Given the description of an element on the screen output the (x, y) to click on. 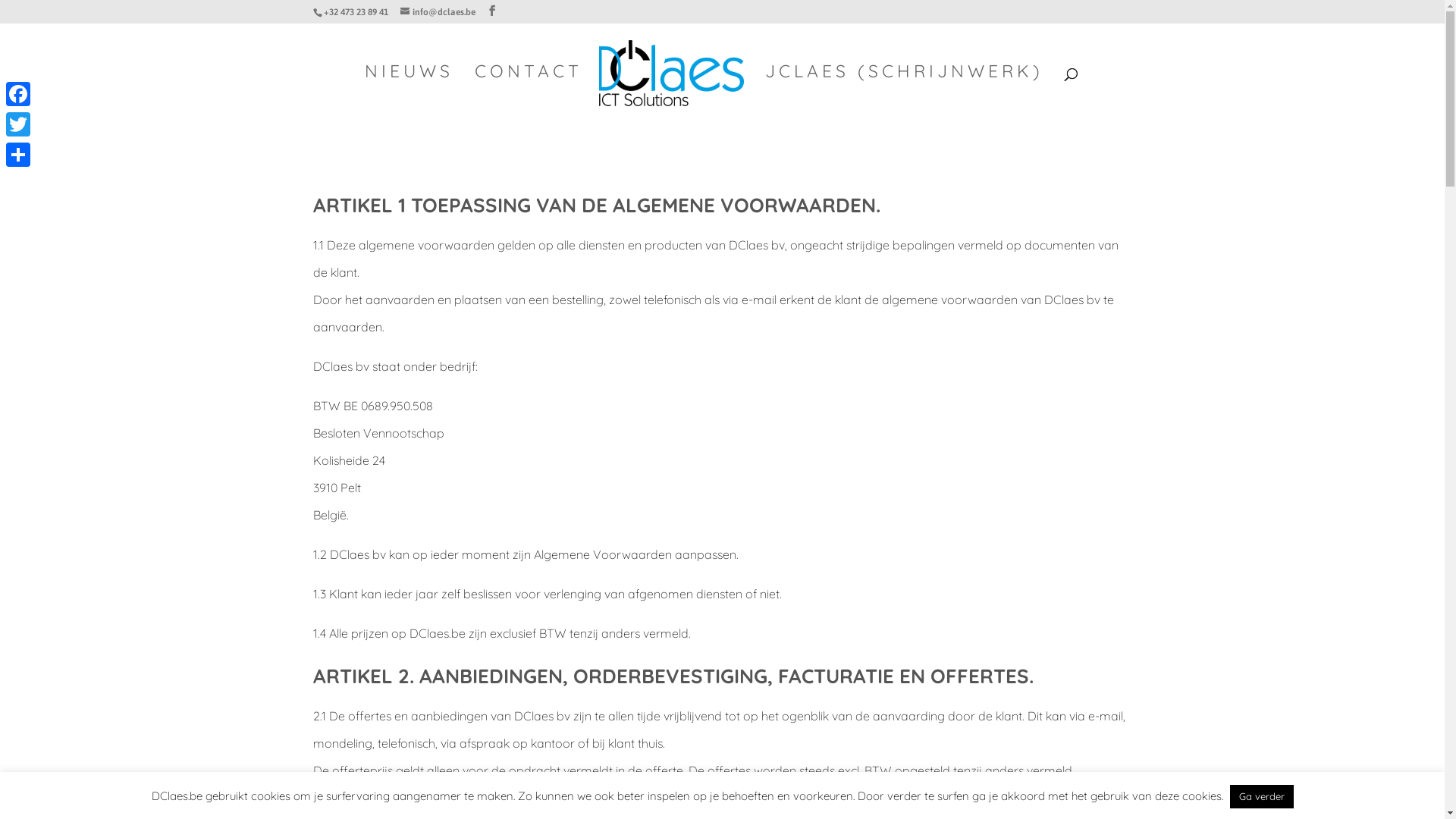
Ga verder Element type: text (1261, 796)
info@dclaes.be Element type: text (437, 11)
Twitter Element type: text (18, 124)
Delen Element type: text (18, 154)
Facebook Element type: text (18, 93)
NIEUWS Element type: text (408, 91)
CONTACT Element type: text (528, 91)
JCLAES (SCHRIJNWERK) Element type: text (904, 91)
